Given the description of an element on the screen output the (x, y) to click on. 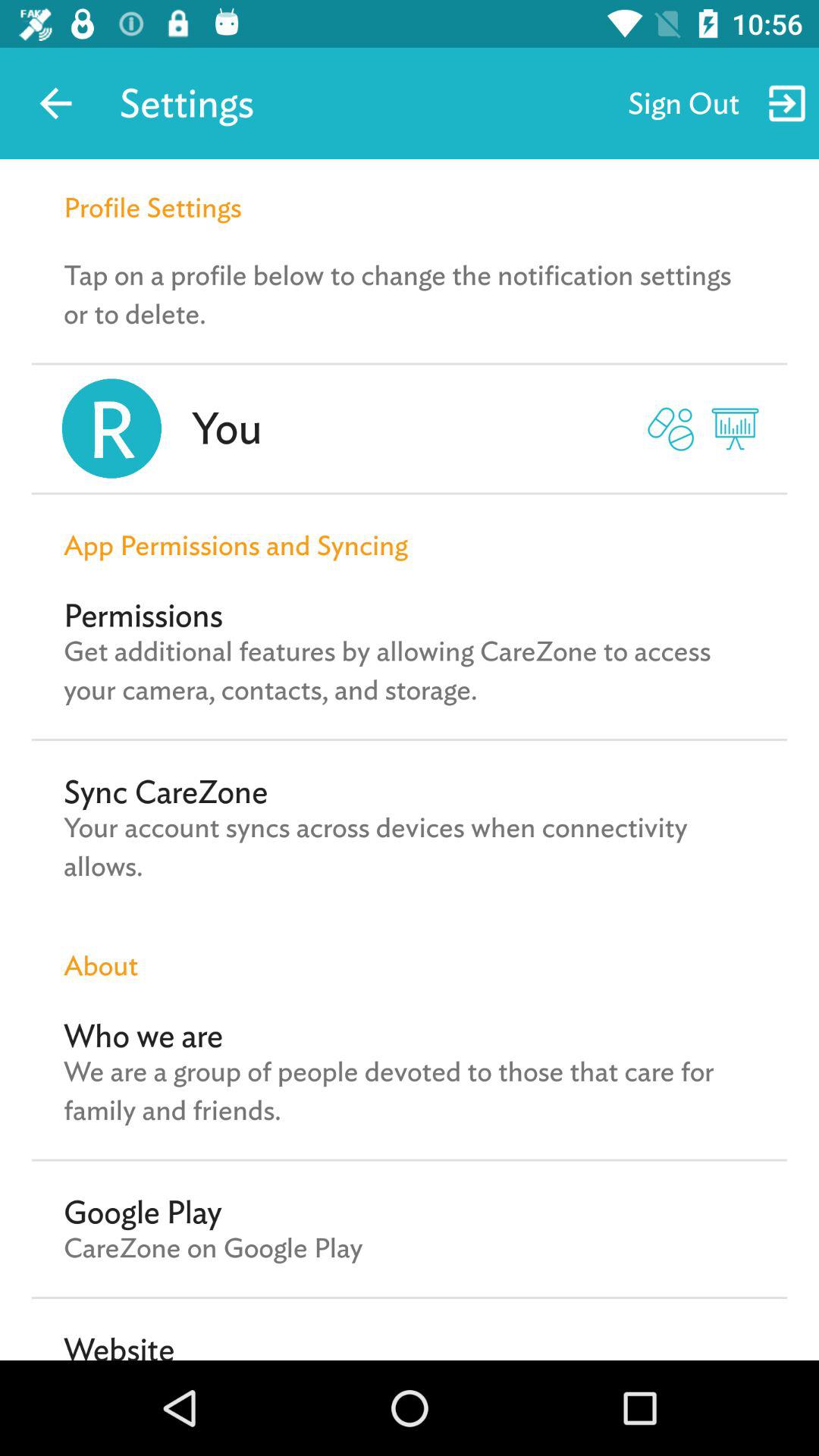
click website item (118, 1345)
